Given the description of an element on the screen output the (x, y) to click on. 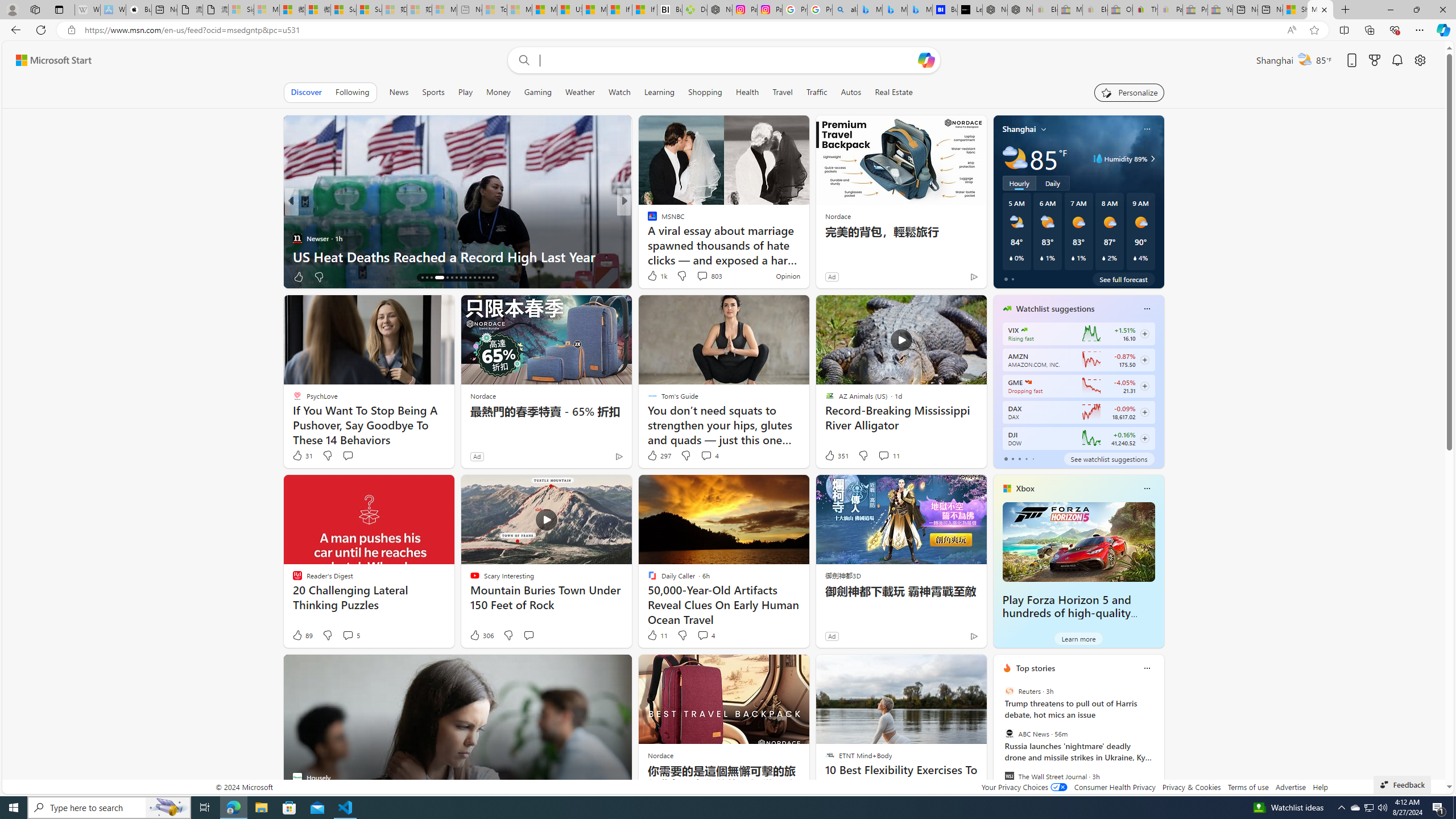
US Heat Deaths Reached a Record High Last Year (457, 256)
Reader's Digest (647, 238)
View comments 21 Comment (704, 276)
CBOE Market Volatility Index (1023, 329)
tab-2 (1019, 458)
AutomationID: tab-29 (488, 277)
ABC News (1008, 733)
MSNBC (647, 238)
